Given the description of an element on the screen output the (x, y) to click on. 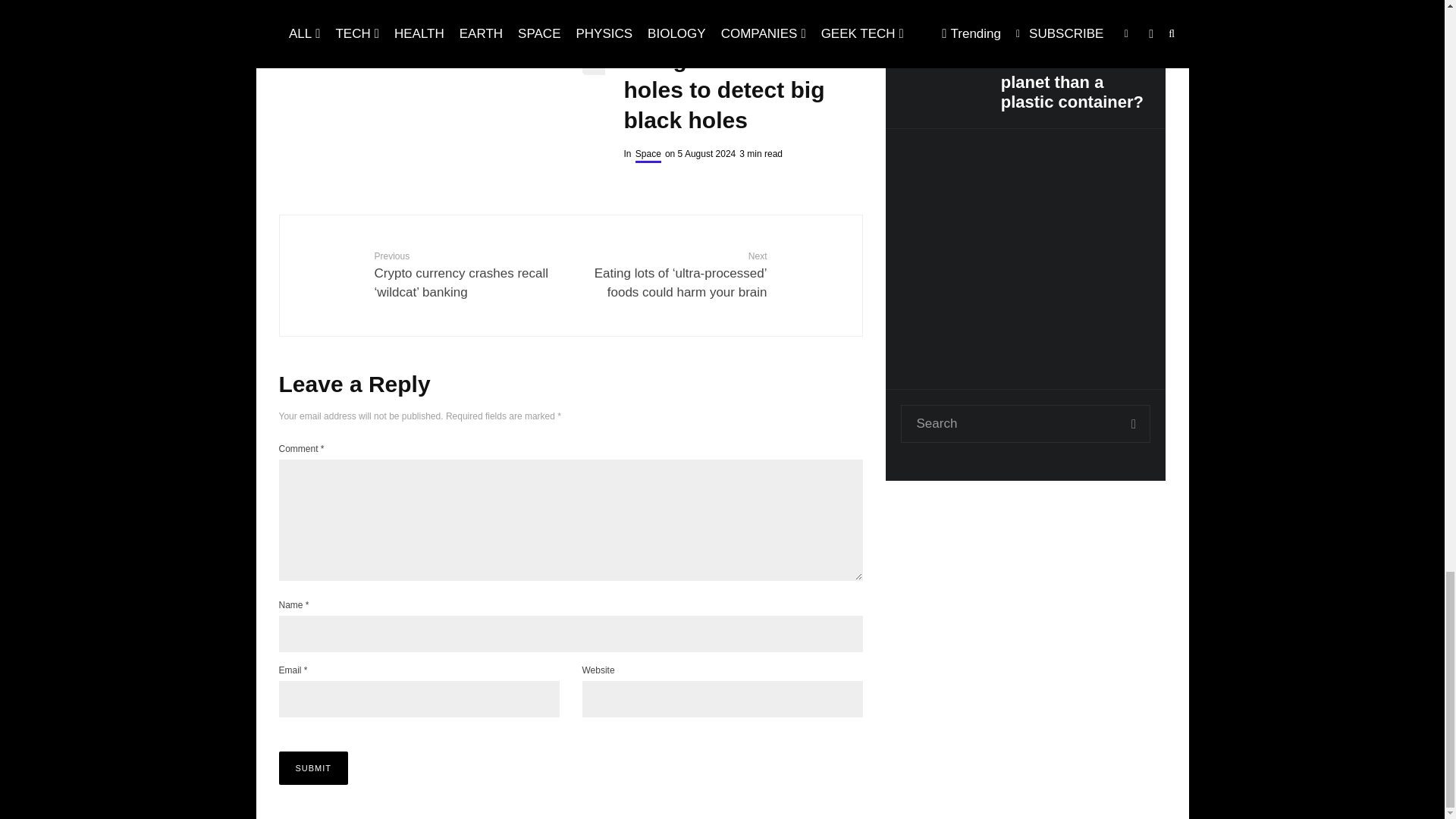
Submit (314, 767)
